Given the description of an element on the screen output the (x, y) to click on. 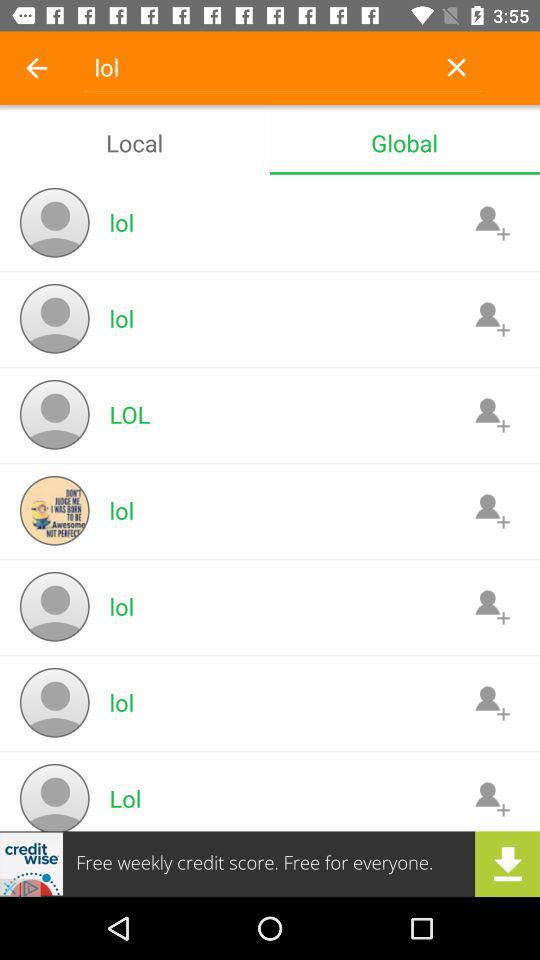
download app (270, 864)
